Given the description of an element on the screen output the (x, y) to click on. 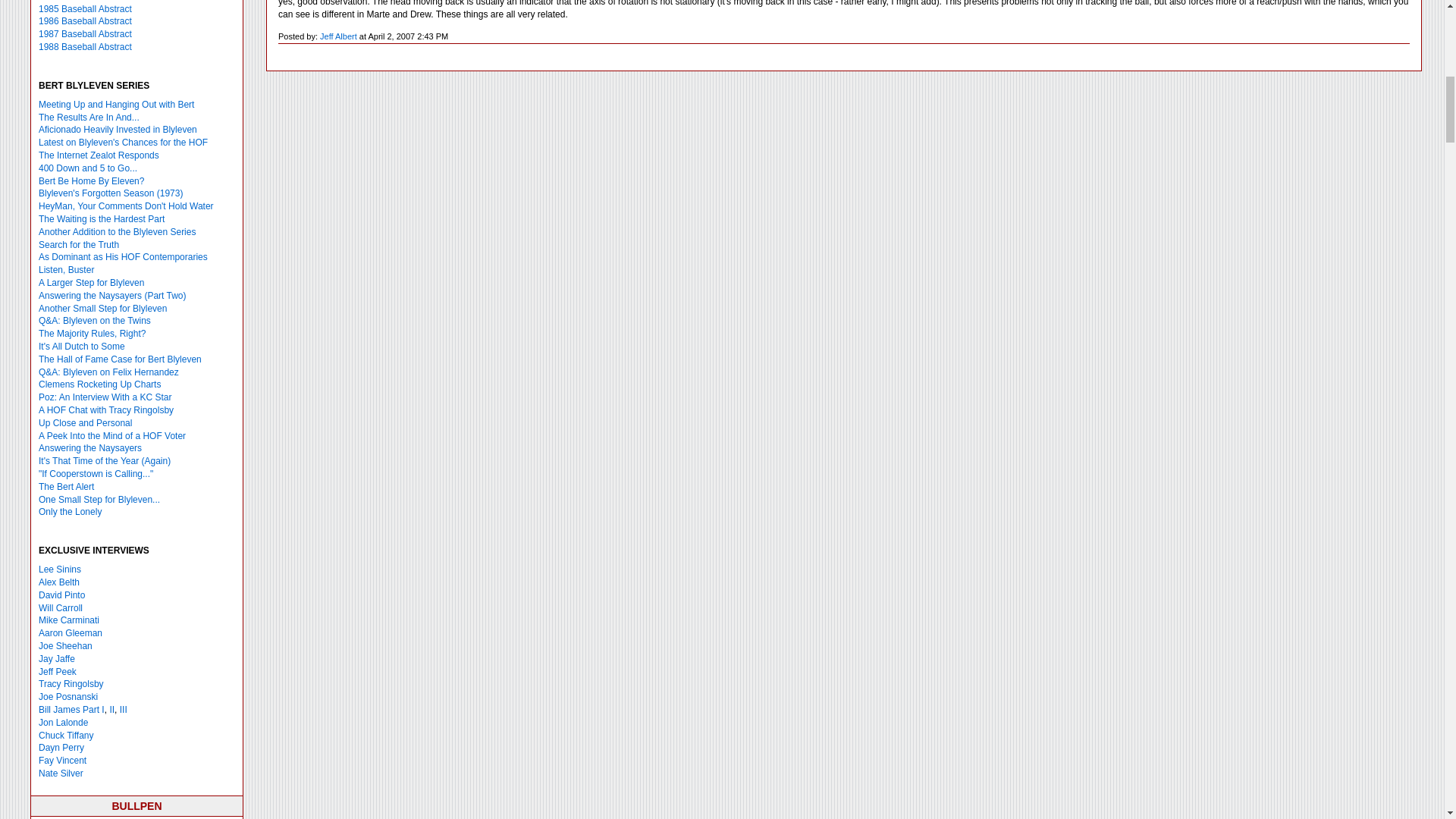
1986 Baseball Abstract (85, 20)
1984 Baseball Abstract (85, 0)
1985 Baseball Abstract (85, 9)
